Given the description of an element on the screen output the (x, y) to click on. 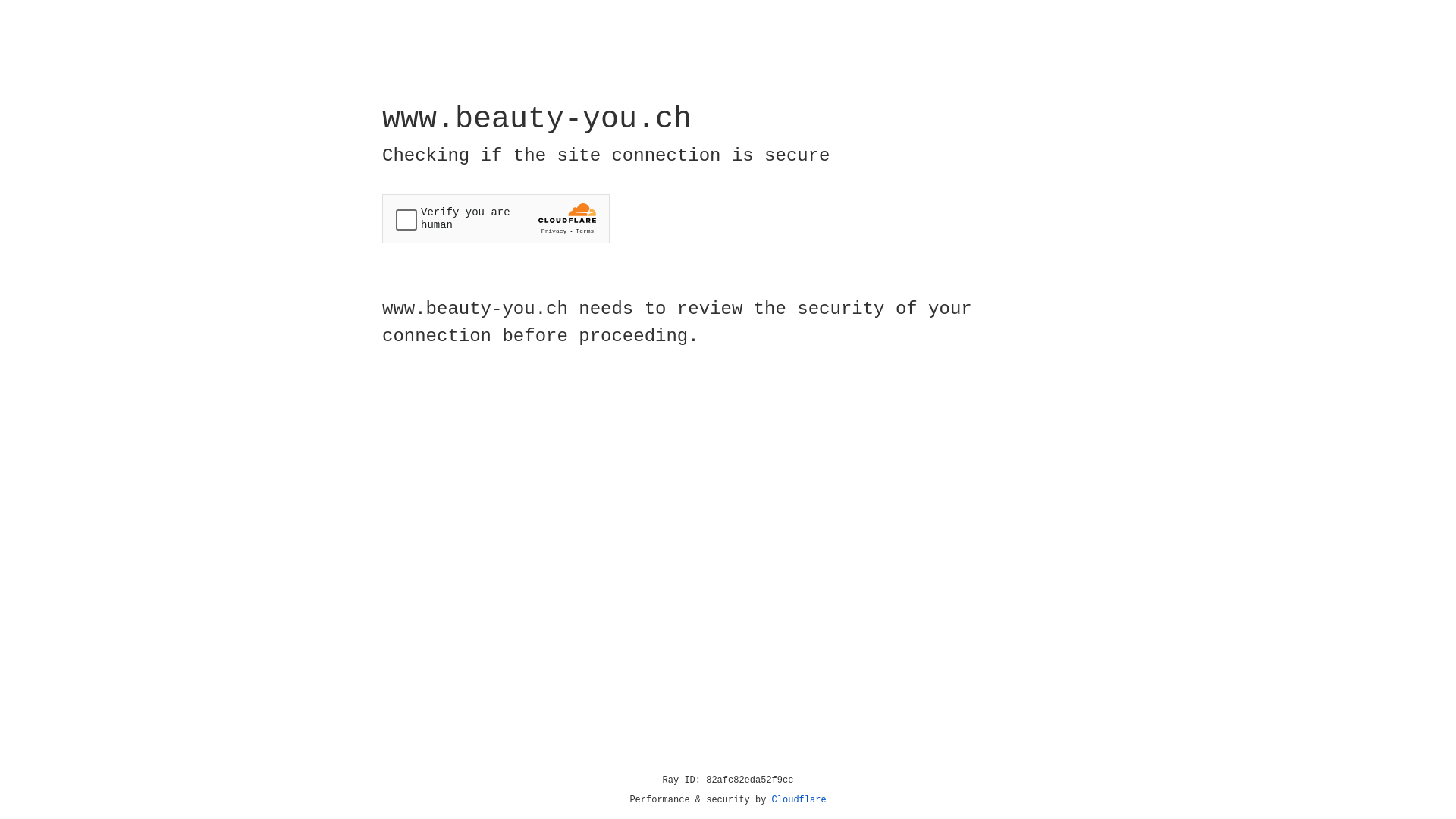
Widget containing a Cloudflare security challenge Element type: hover (495, 218)
Cloudflare Element type: text (798, 799)
